Given the description of an element on the screen output the (x, y) to click on. 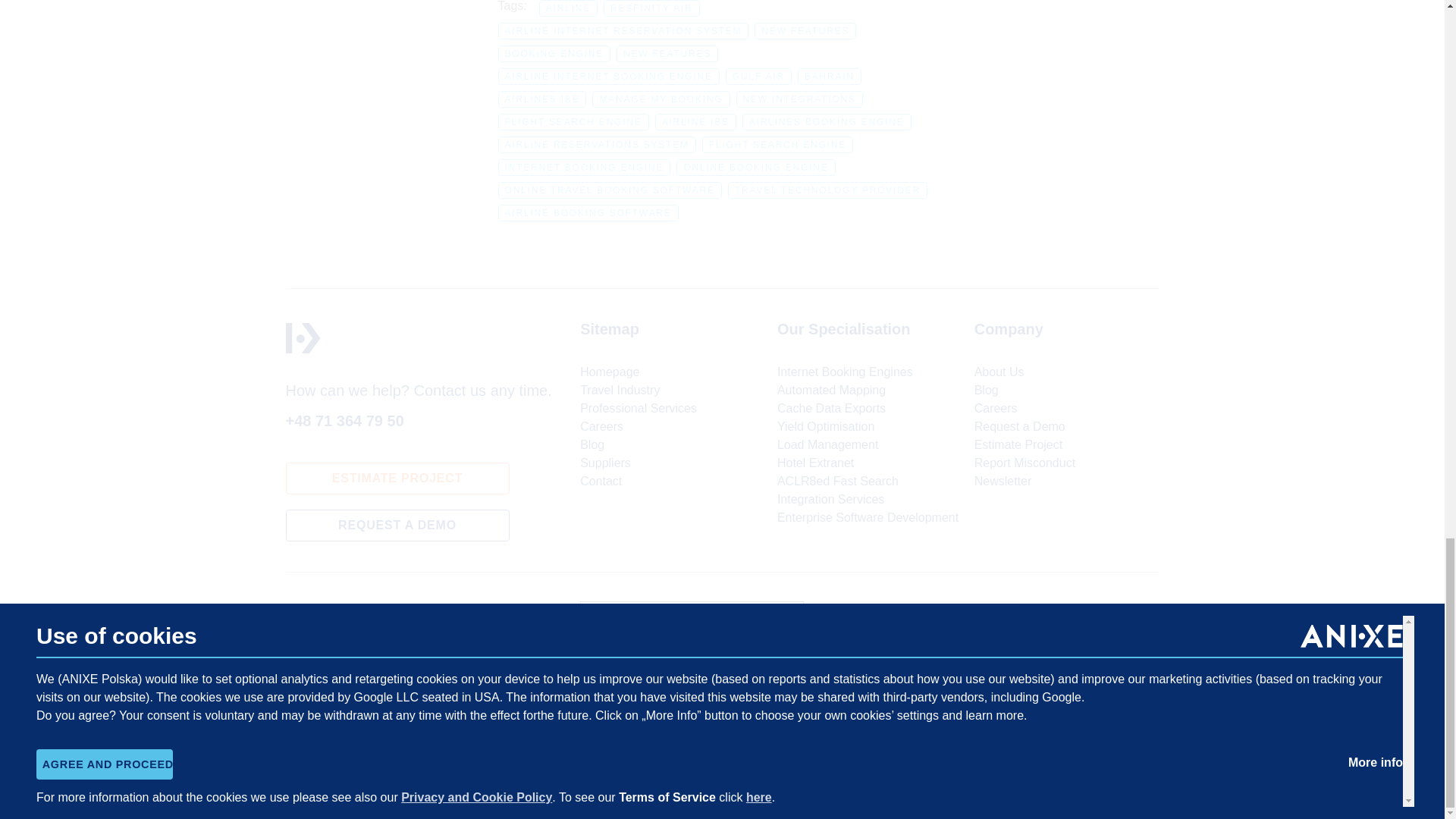
GULF AIR (758, 76)
AIRLINE INTERNET RESERVATION SYSTEM (622, 30)
TRAVEL TECHNOLOGY PROVIDER (827, 190)
AIRLINE INTERNET BOOKING ENGINE (608, 76)
FLIGHT SEARCH ENGINE (777, 144)
AIRLINE IBE (695, 121)
AIRLINE BOOKING SOFTWARE (587, 212)
NEW FEATURES (666, 53)
AIRLINES BOOKING ENGINE (826, 121)
AIRLINE RESERVATIONS SYSTEM (596, 144)
RESFINITY AIR (652, 8)
BAHRAIN (829, 76)
ONLINE BOOKING ENGINE (755, 167)
MANAGE MY BOOKING (660, 98)
NEW INTEGRATIONS (799, 98)
